Given the description of an element on the screen output the (x, y) to click on. 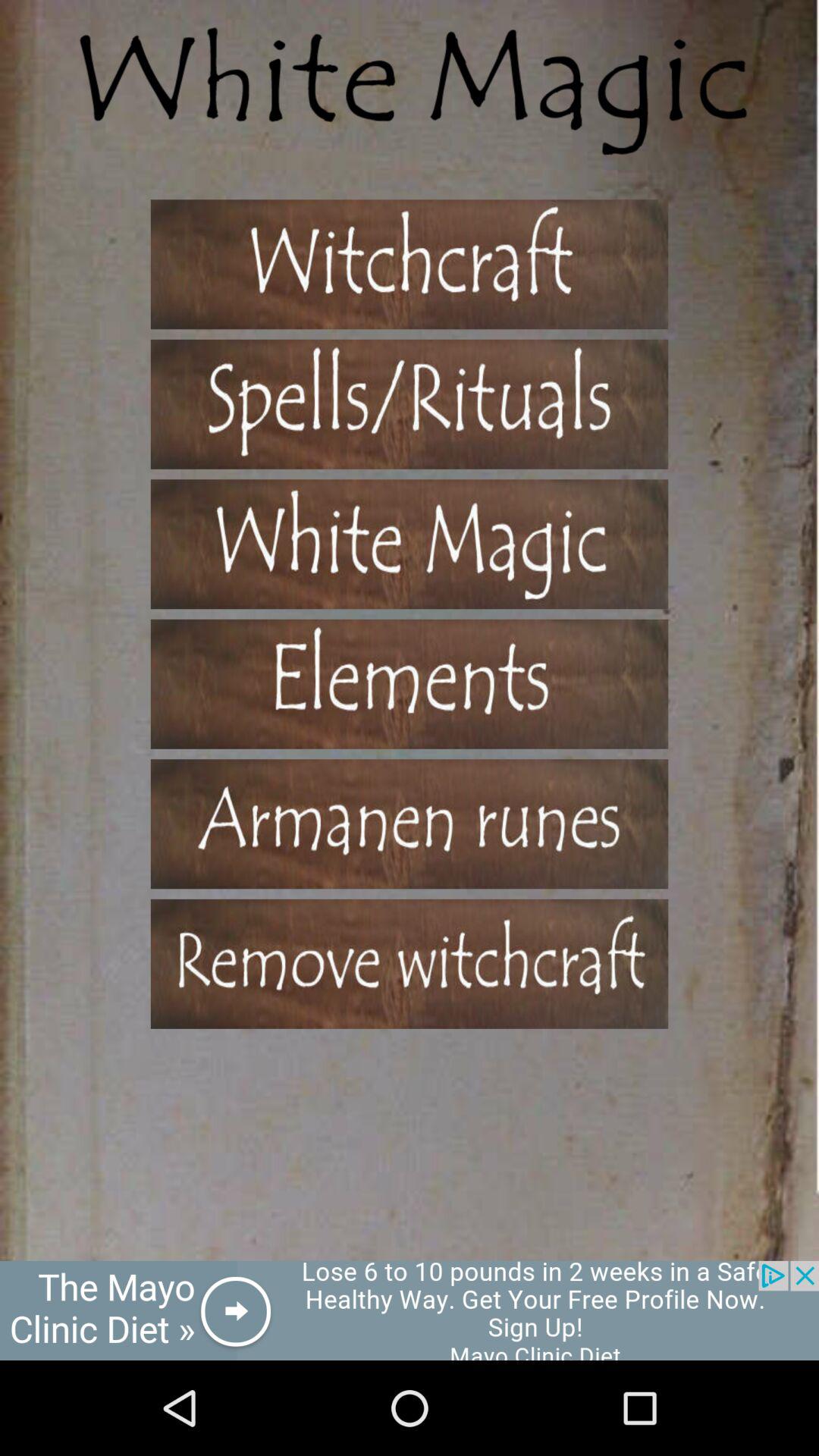
ateno para o nome white magic (409, 544)
